Given the description of an element on the screen output the (x, y) to click on. 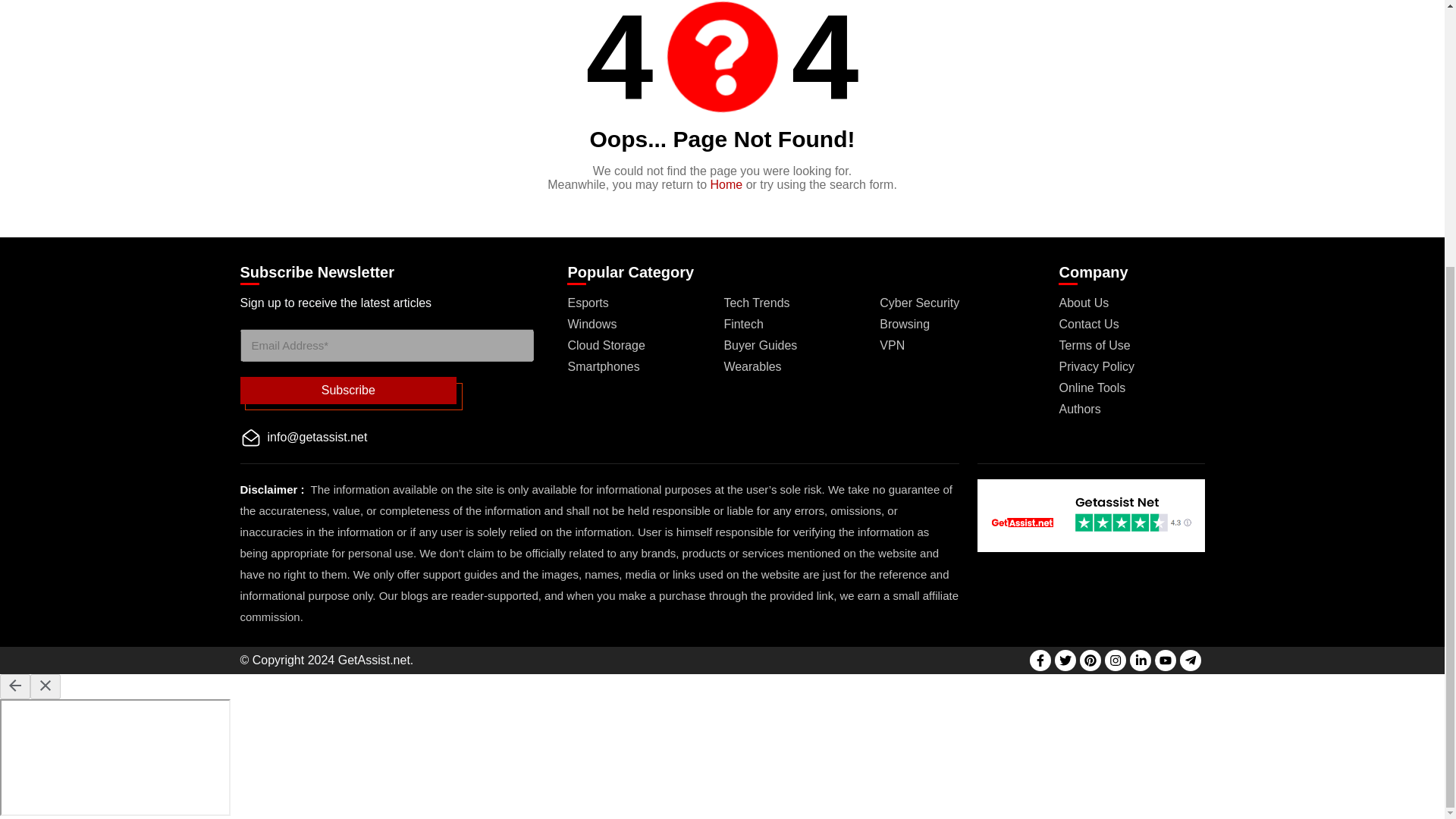
Wearables (751, 366)
Cyber Security (919, 302)
VPN (891, 345)
Windows (591, 323)
Windows (591, 323)
Terms of Use (1093, 345)
Privacy Policy (1096, 366)
Subscribe (348, 390)
Fintech (742, 323)
Tech Trends (756, 302)
